Given the description of an element on the screen output the (x, y) to click on. 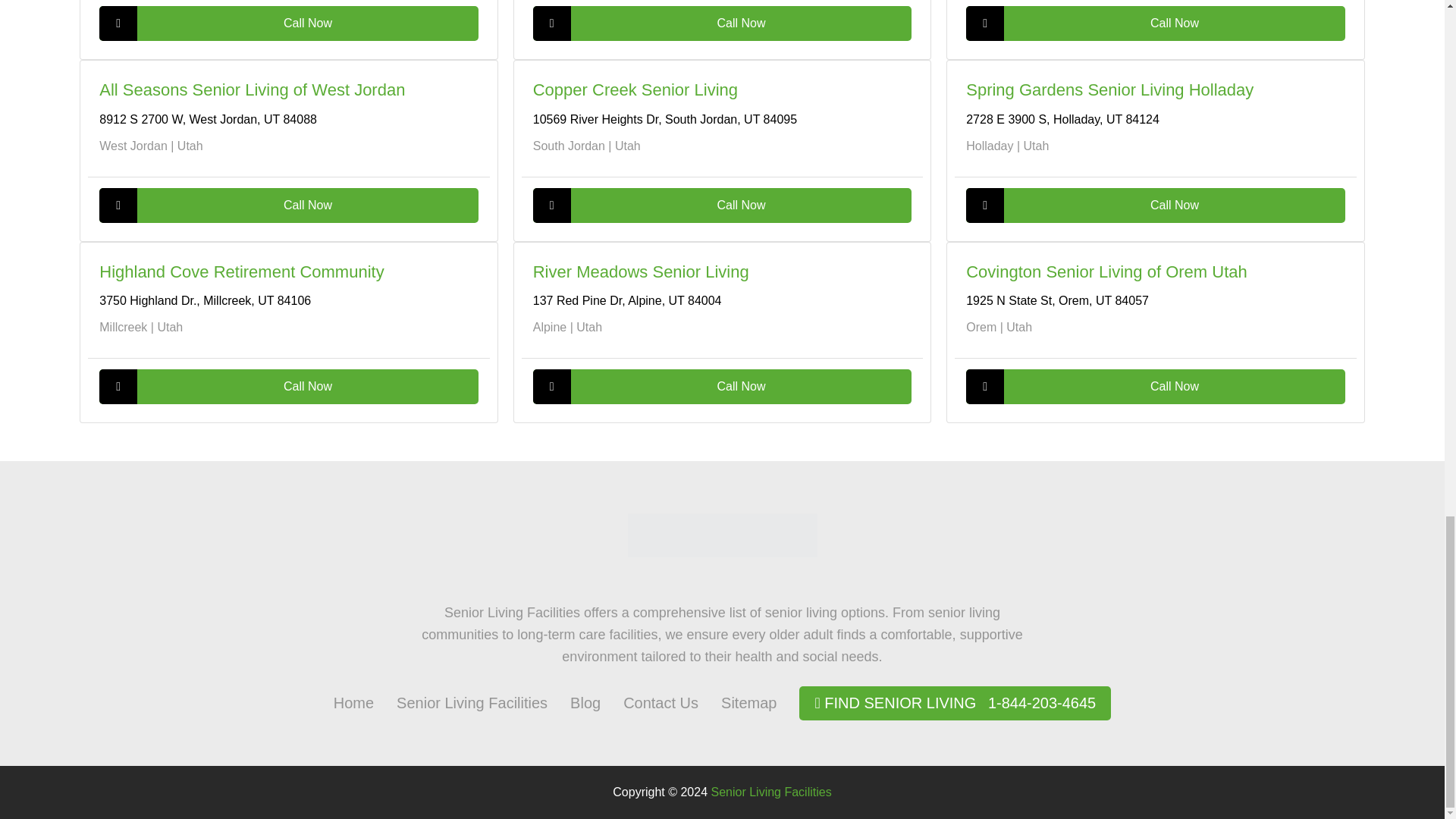
Blog (584, 702)
Copper Creek Senior Living (635, 89)
Blog (584, 702)
Home (353, 702)
Sitemap (748, 702)
Call Now (1154, 386)
Call Now (288, 386)
Contact Us (660, 702)
Spring Gardens Senior Living Holladay (1109, 89)
Home (353, 702)
